Given the description of an element on the screen output the (x, y) to click on. 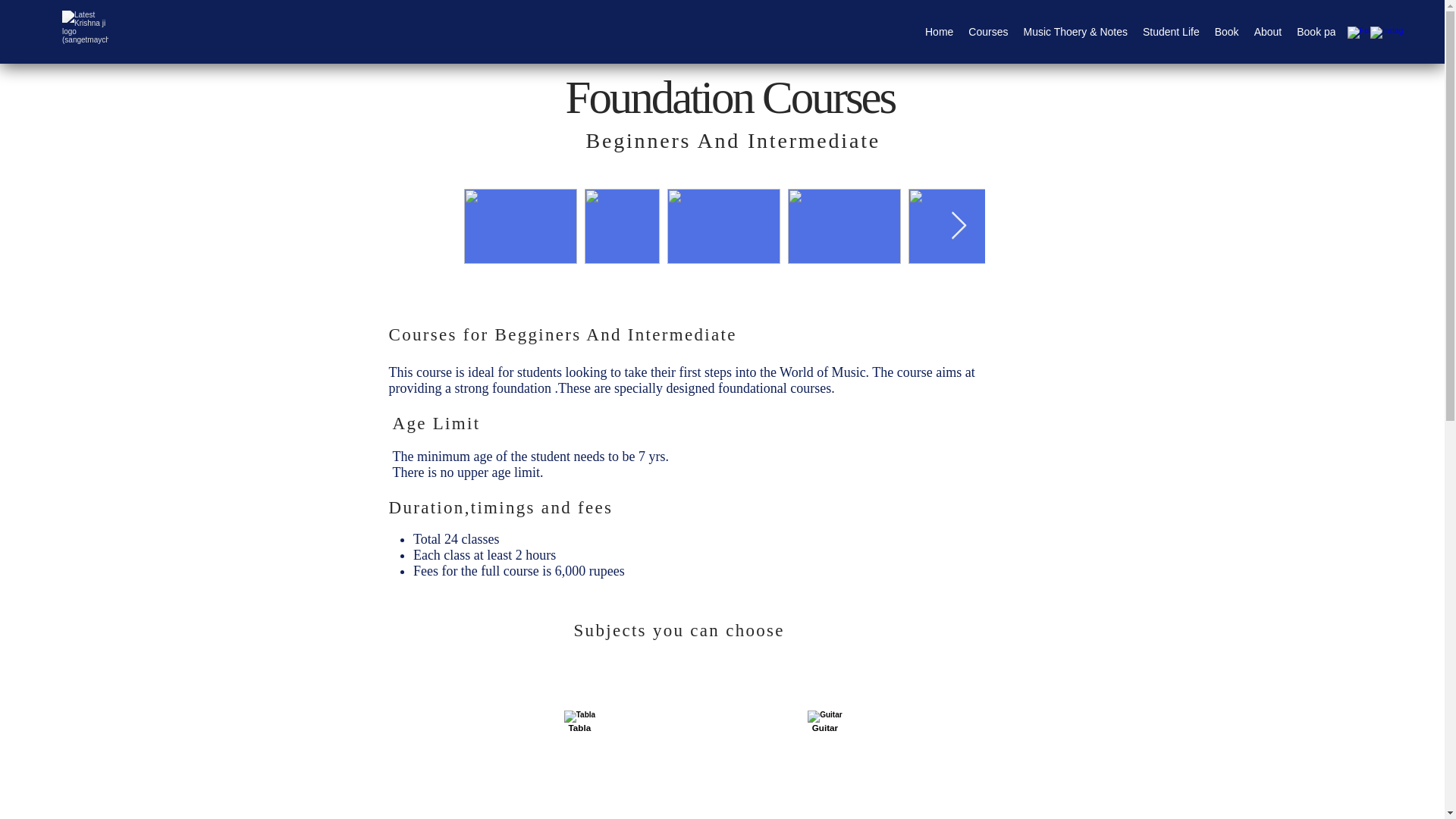
Home (938, 33)
Student Life (1171, 33)
Book (1226, 33)
Book page (1321, 33)
About (1268, 33)
Courses (987, 33)
